Given the description of an element on the screen output the (x, y) to click on. 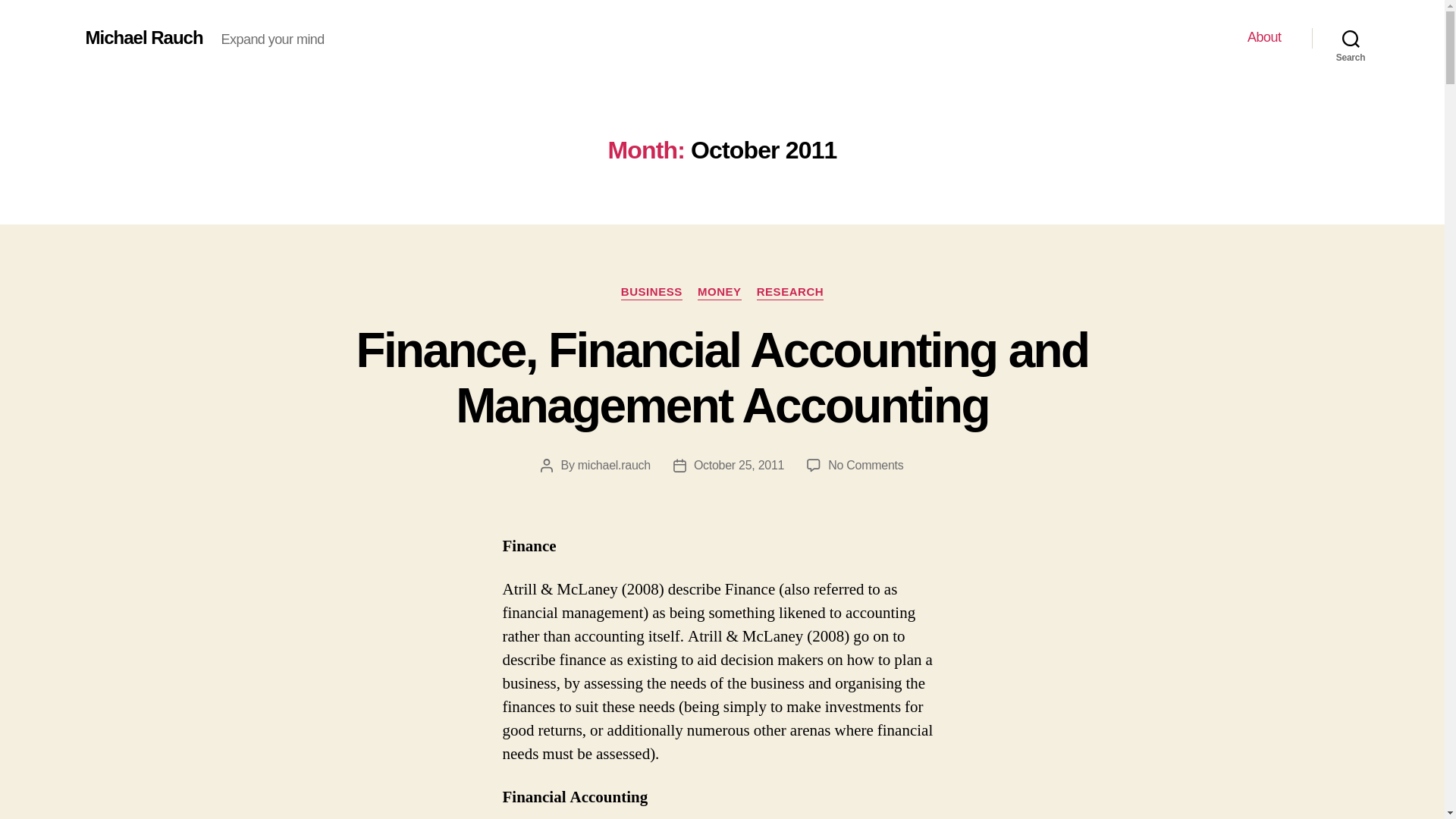
BUSINESS (651, 292)
Finance, Financial Accounting and Management Accounting (722, 377)
Search (1350, 37)
MONEY (719, 292)
Michael Rauch (143, 37)
RESEARCH (790, 292)
michael.rauch (614, 464)
October 25, 2011 (739, 464)
About (1264, 37)
